Given the description of an element on the screen output the (x, y) to click on. 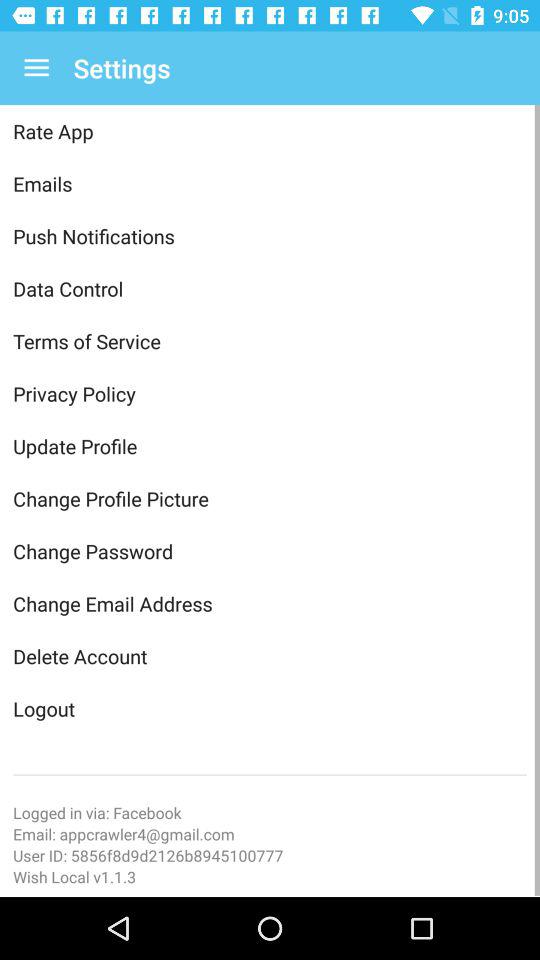
turn off change password icon (269, 551)
